Given the description of an element on the screen output the (x, y) to click on. 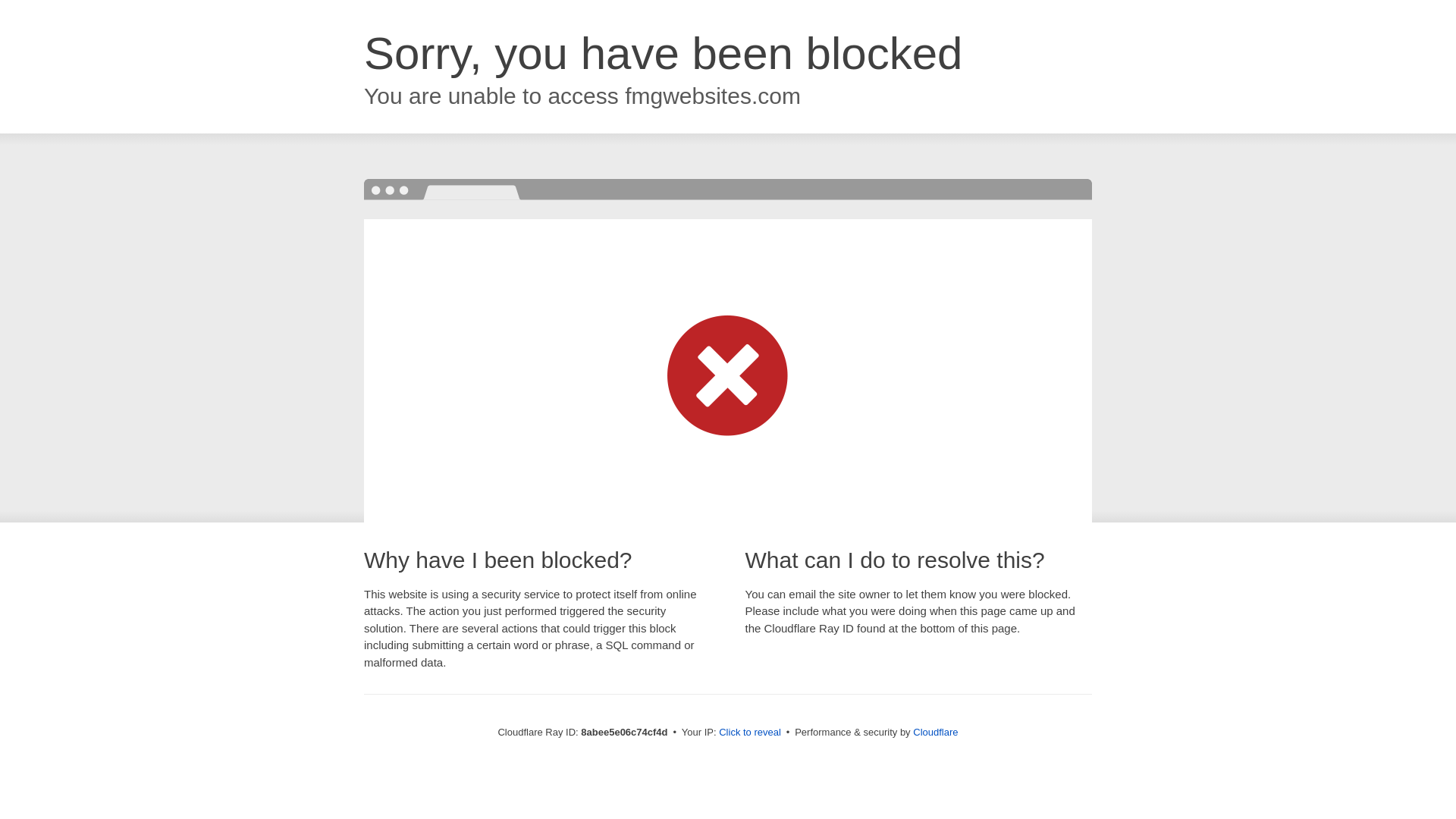
Cloudflare (935, 731)
Click to reveal (749, 732)
